Given the description of an element on the screen output the (x, y) to click on. 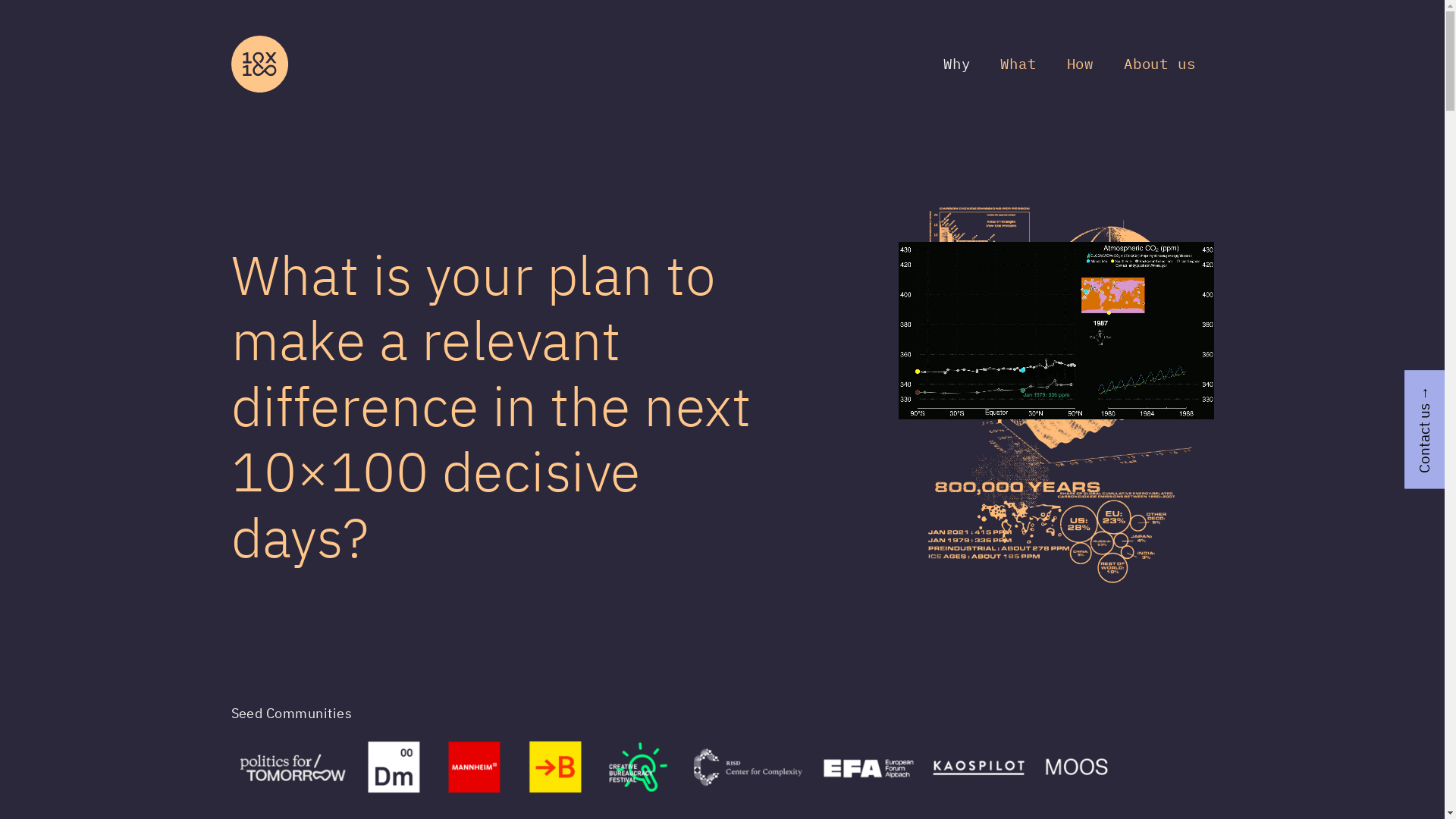
How Element type: text (1079, 64)
What Element type: text (1017, 64)
About us Element type: text (1159, 64)
Why Element type: text (956, 64)
